Given the description of an element on the screen output the (x, y) to click on. 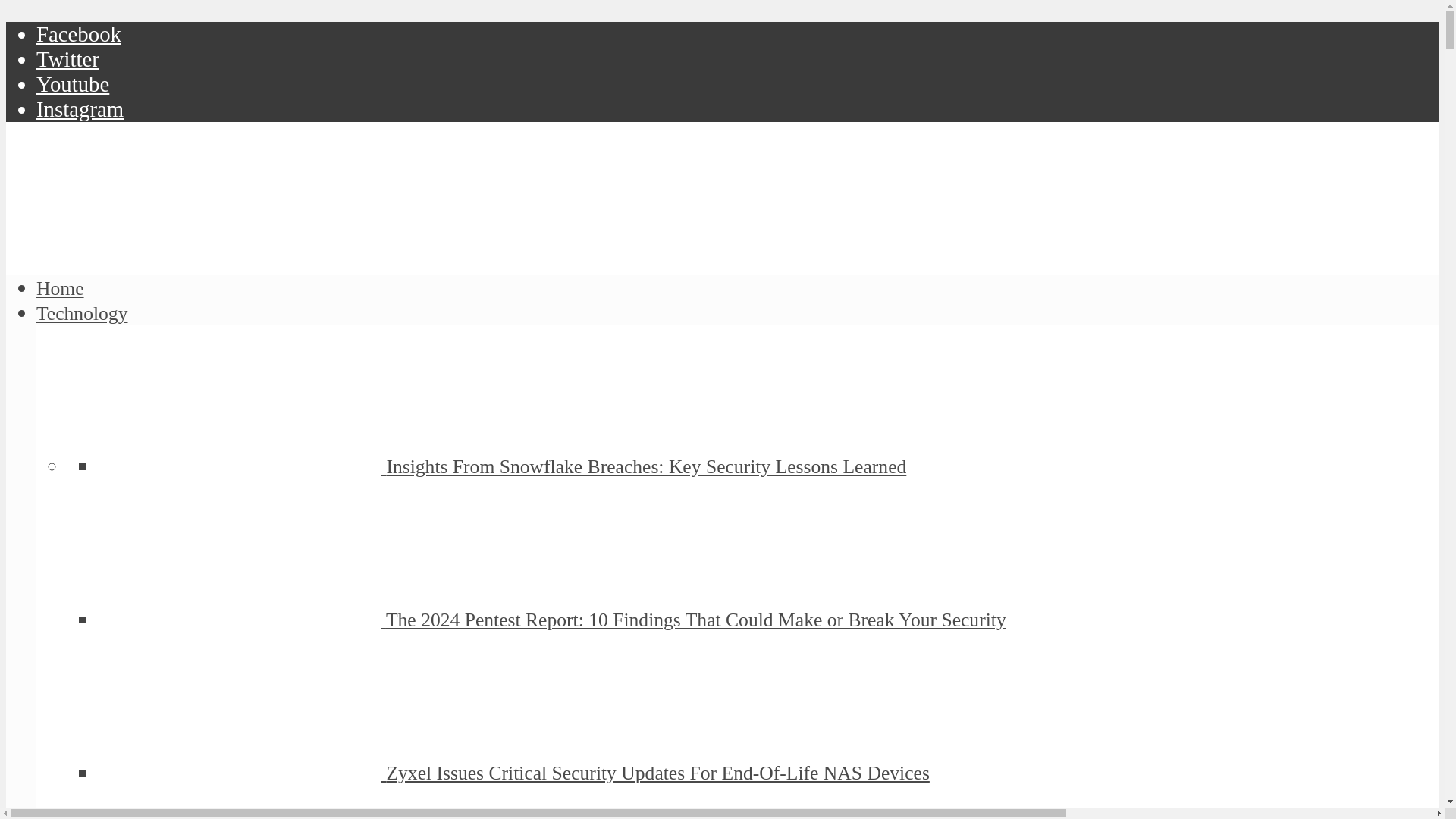
Instagram (79, 109)
Youtube (72, 84)
Home (60, 288)
Twitter (67, 58)
Facebook (78, 33)
Technology (82, 313)
